Given the description of an element on the screen output the (x, y) to click on. 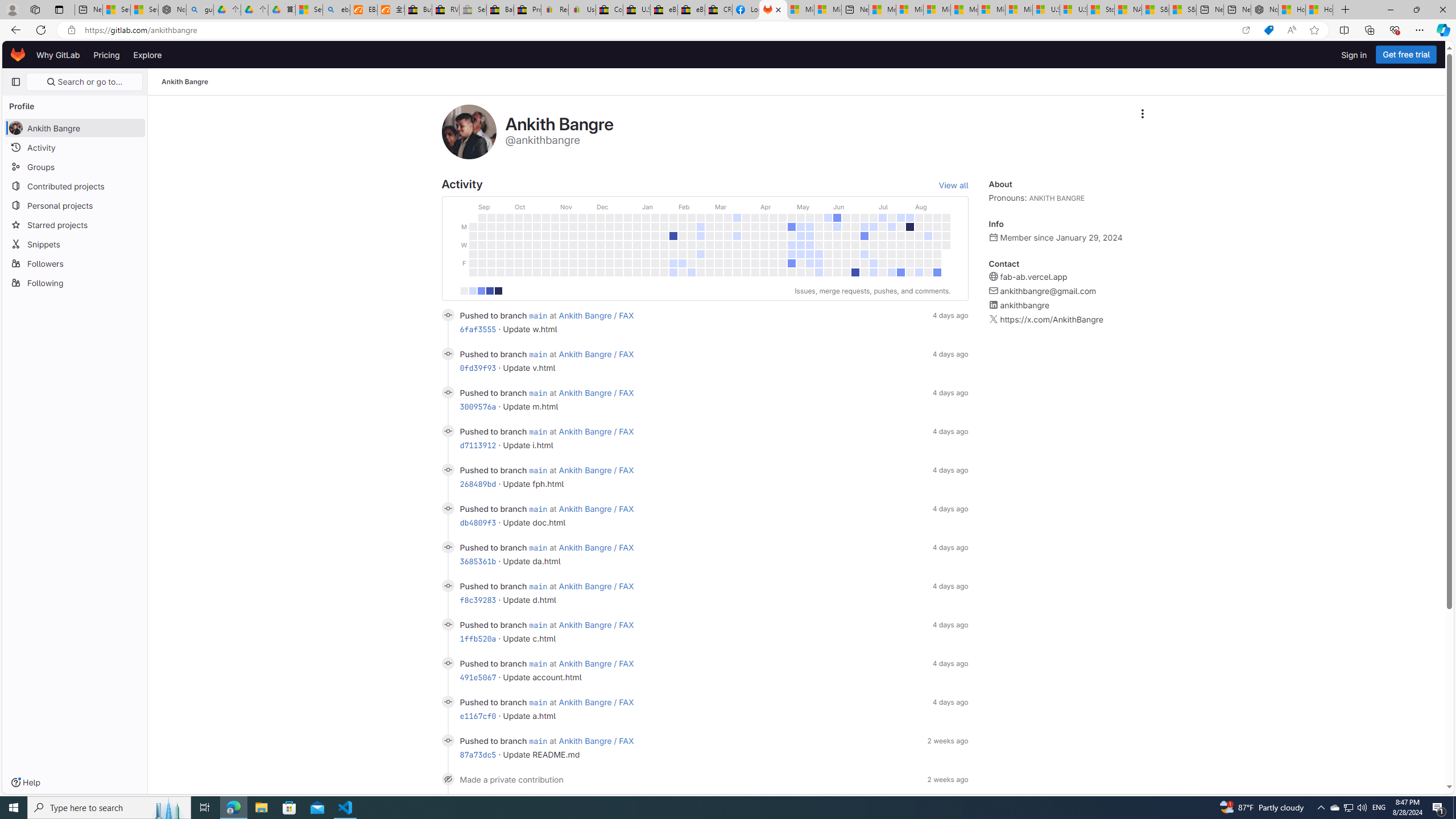
Ankith Bangre / FAX (596, 740)
Class: contrib-calendar (704, 243)
db4809f3 (478, 522)
eBay Inc. Reports Third Quarter 2023 Results (691, 9)
